Given the description of an element on the screen output the (x, y) to click on. 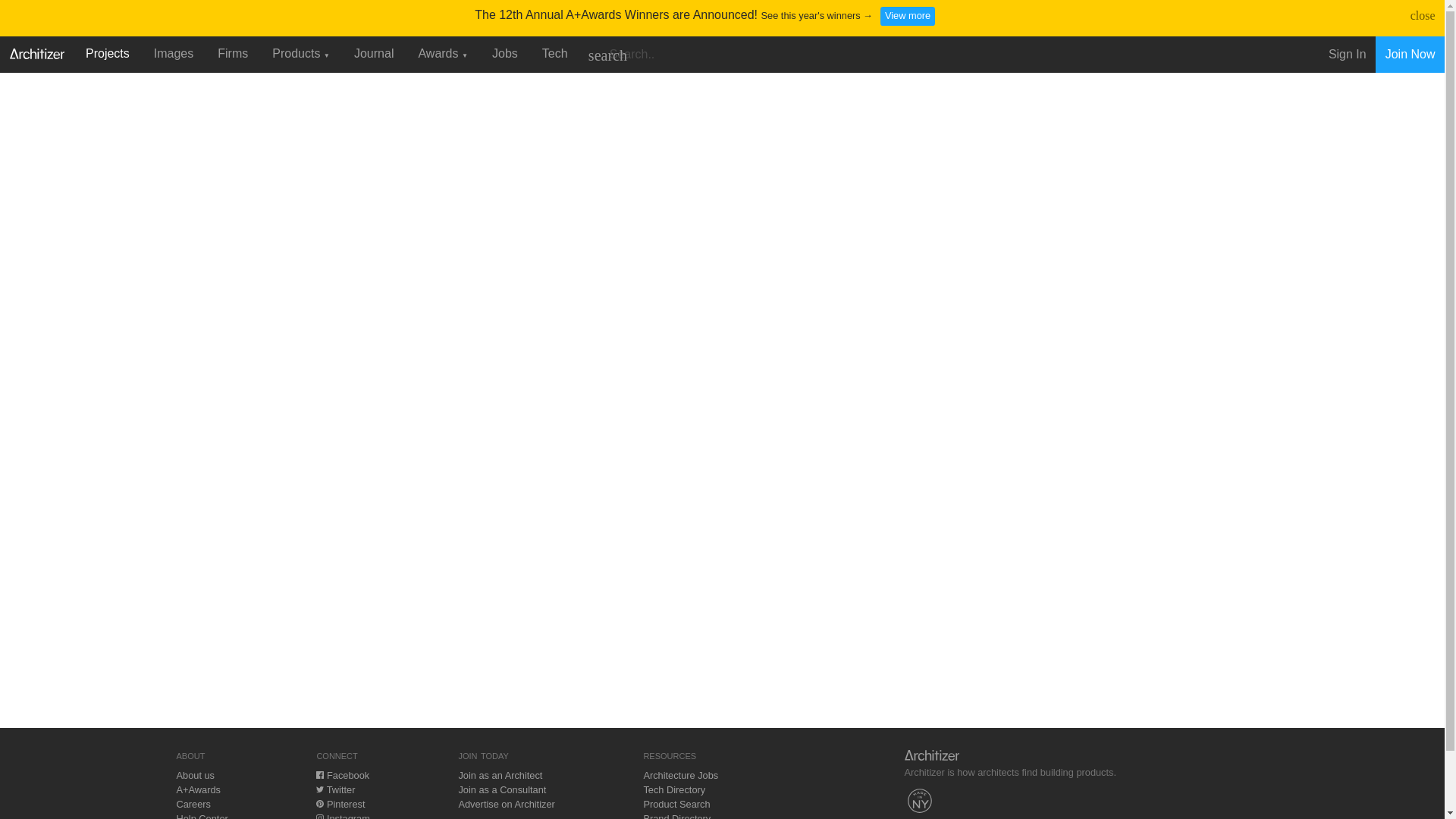
Instagram icon (319, 816)
Sign In (1347, 54)
Pinterest (340, 803)
Instagram (342, 816)
Architecture Jobs (680, 775)
search (606, 55)
Pinterest icon (319, 803)
Journal (374, 53)
Product Search (676, 803)
Firms (232, 53)
